Given the description of an element on the screen output the (x, y) to click on. 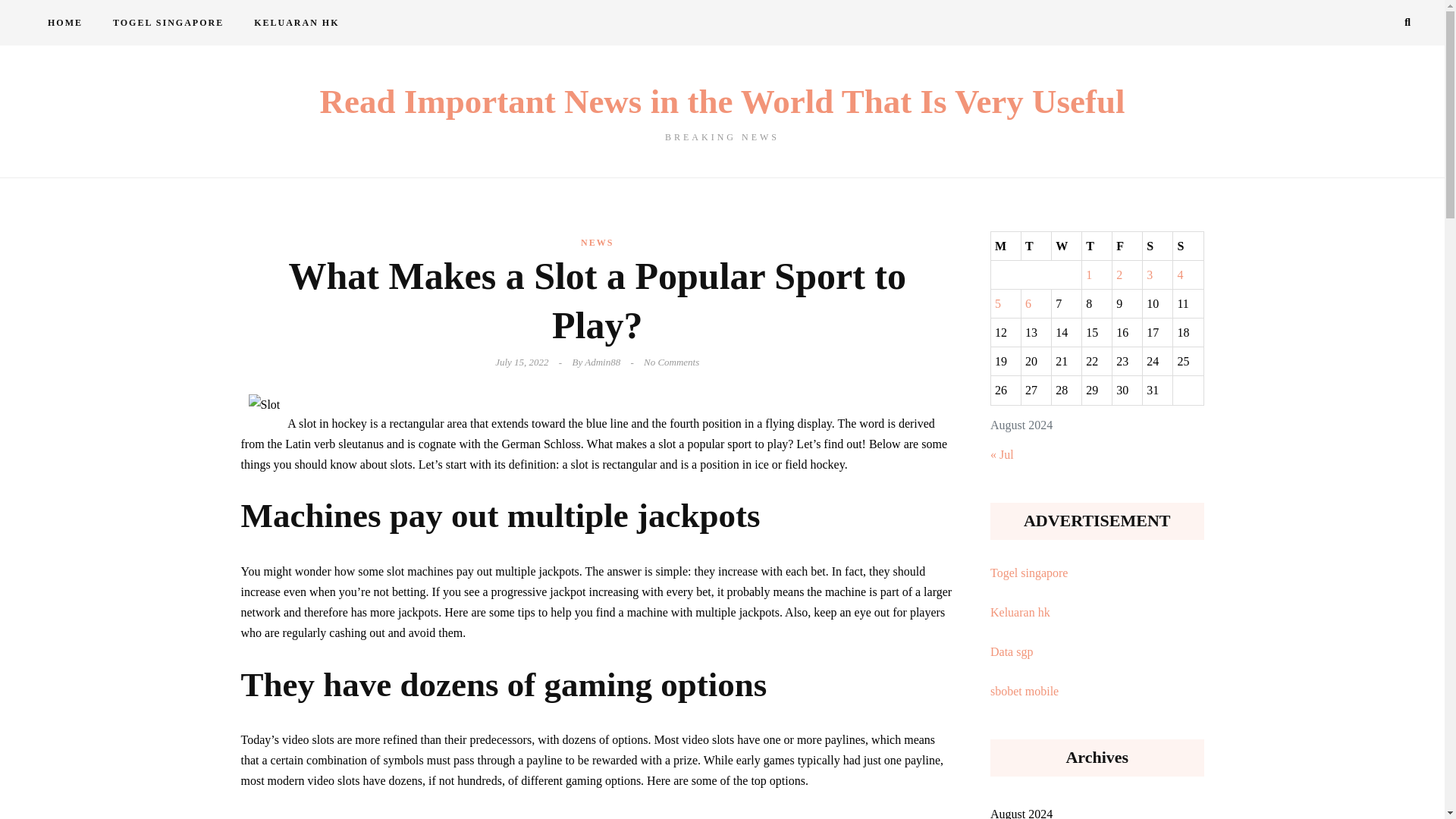
Monday (1005, 245)
sbobet mobile (1024, 690)
August 2024 (1021, 809)
Friday (1127, 245)
Thursday (1096, 245)
Data sgp (1011, 651)
Sunday (1188, 245)
HOME (64, 22)
NEWS (596, 241)
Saturday (1157, 245)
TOGEL SINGAPORE (168, 22)
Wednesday (1066, 245)
KELUARAN HK (296, 22)
Tuesday (1036, 245)
